Given the description of an element on the screen output the (x, y) to click on. 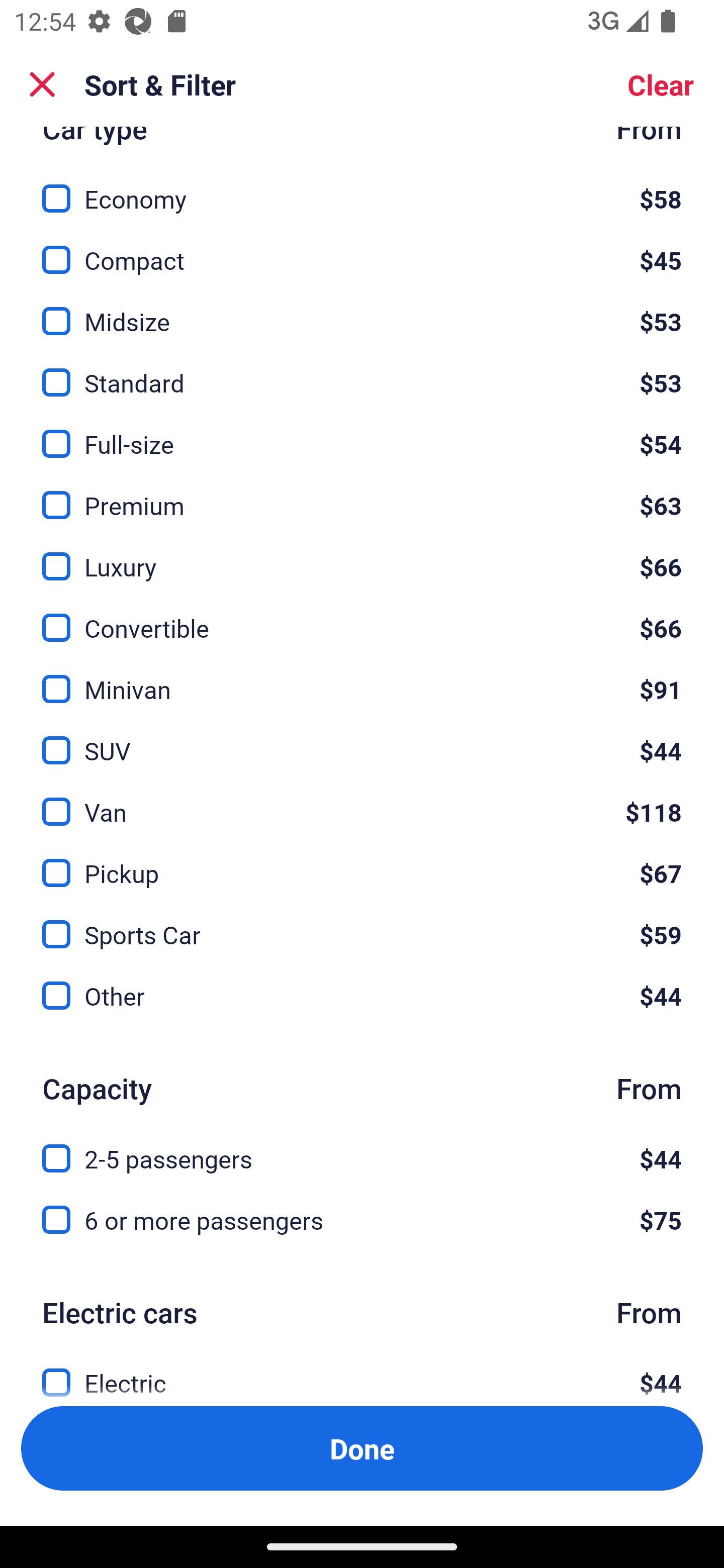
Close Sort and Filter (42, 84)
Clear (660, 84)
Economy, $58 Economy $58 (361, 186)
Compact, $45 Compact $45 (361, 248)
Midsize, $53 Midsize $53 (361, 309)
Standard, $53 Standard $53 (361, 370)
Full-size, $54 Full-size $54 (361, 432)
Premium, $63 Premium $63 (361, 494)
Luxury, $66 Luxury $66 (361, 555)
Convertible, $66 Convertible $66 (361, 616)
Minivan, $91 Minivan $91 (361, 677)
SUV, $44 SUV $44 (361, 738)
Van, $118 Van $118 (361, 800)
Pickup, $67 Pickup $67 (361, 861)
Sports Car, $59 Sports Car $59 (361, 922)
Other, $44 Other $44 (361, 995)
2-5 passengers, $44 2-5 passengers $44 (361, 1146)
6 or more passengers, $75 6 or more passengers $75 (361, 1219)
Electric, $44 Electric $44 (361, 1370)
Apply and close Sort and Filter Done (361, 1448)
